Given the description of an element on the screen output the (x, y) to click on. 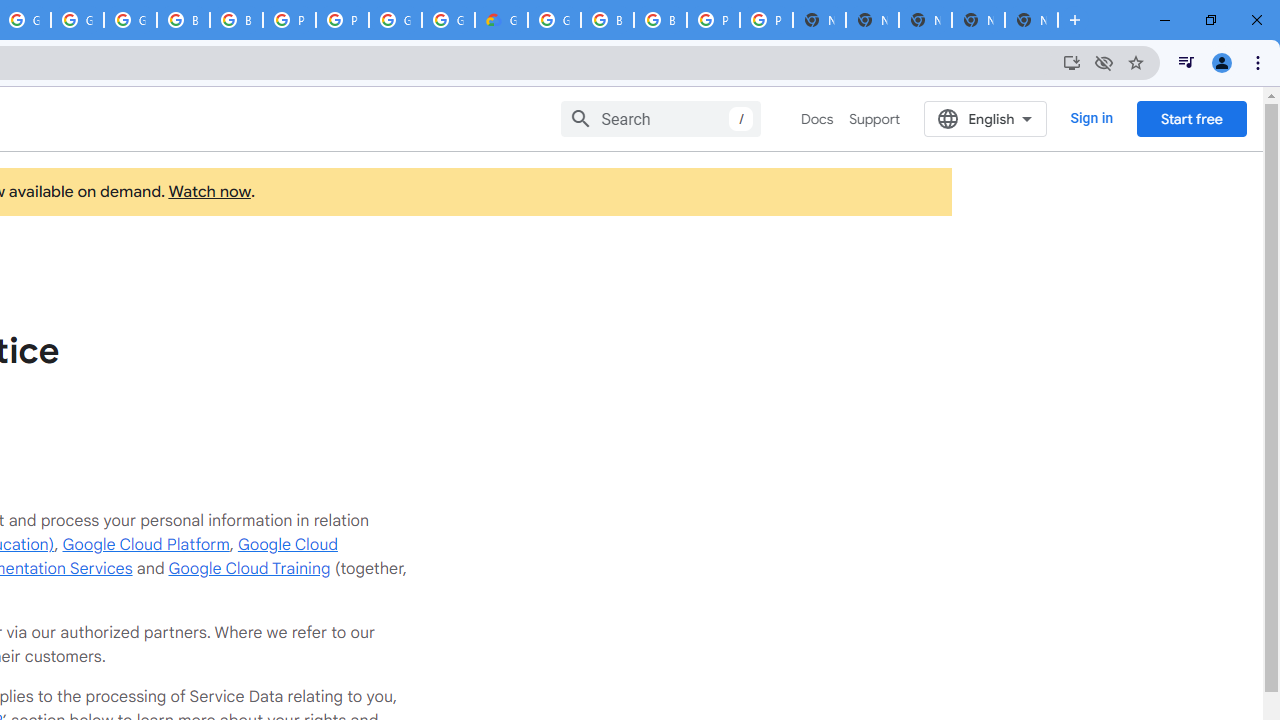
Google Cloud Training (249, 568)
Watch now (208, 192)
New Tab (1031, 20)
Google Cloud Platform (448, 20)
Browse Chrome as a guest - Computer - Google Chrome Help (183, 20)
Docs (817, 119)
